Given the description of an element on the screen output the (x, y) to click on. 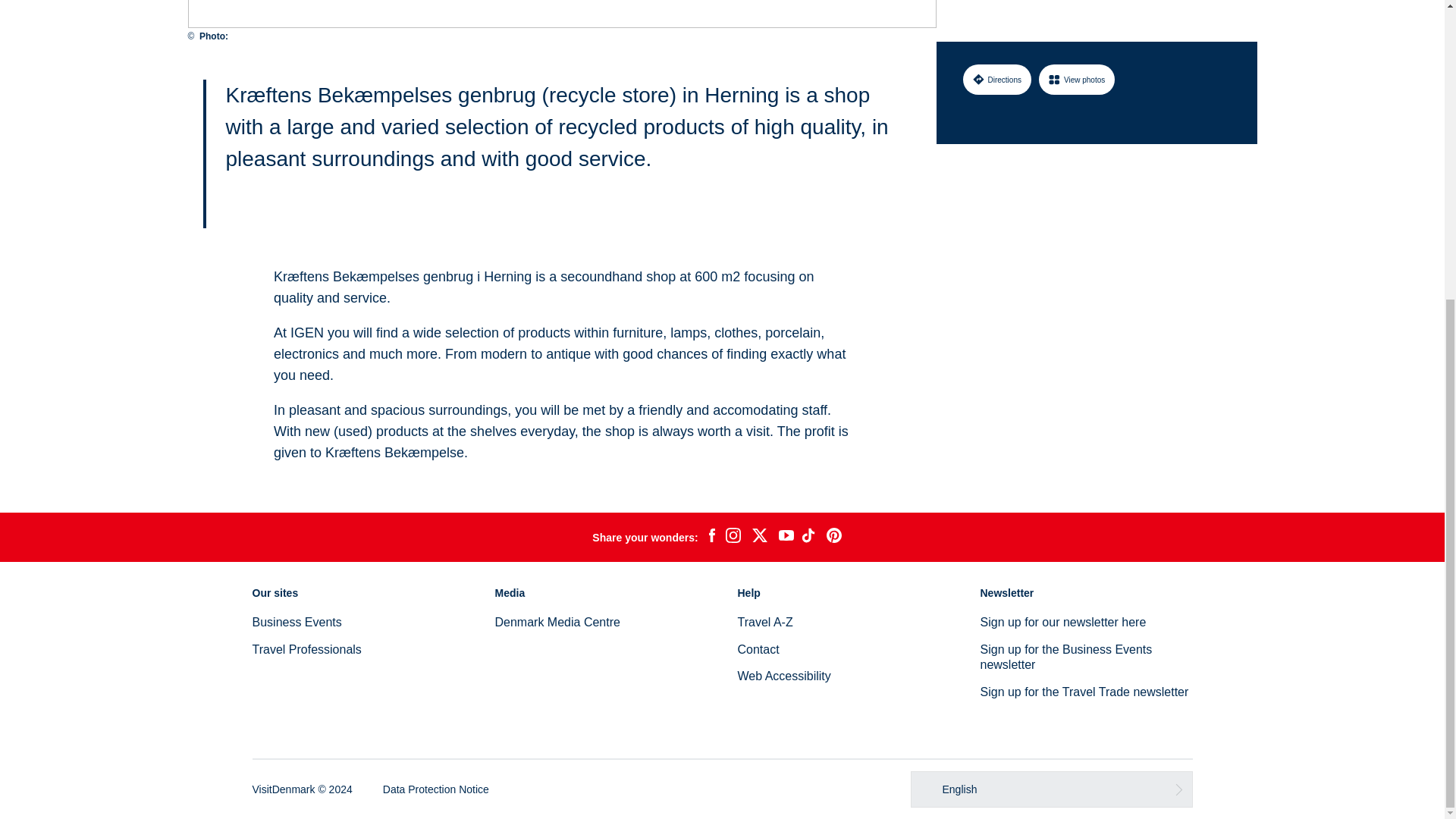
Contact (757, 649)
youtube (786, 537)
tiktok (810, 537)
Data Protection Notice (435, 789)
Contact (757, 649)
Travel A-Z (764, 621)
Sign up for the Business Events newsletter (1065, 656)
Web Accessibility (782, 675)
Travel Professionals (306, 649)
Data Protection Notice (435, 789)
